Given the description of an element on the screen output the (x, y) to click on. 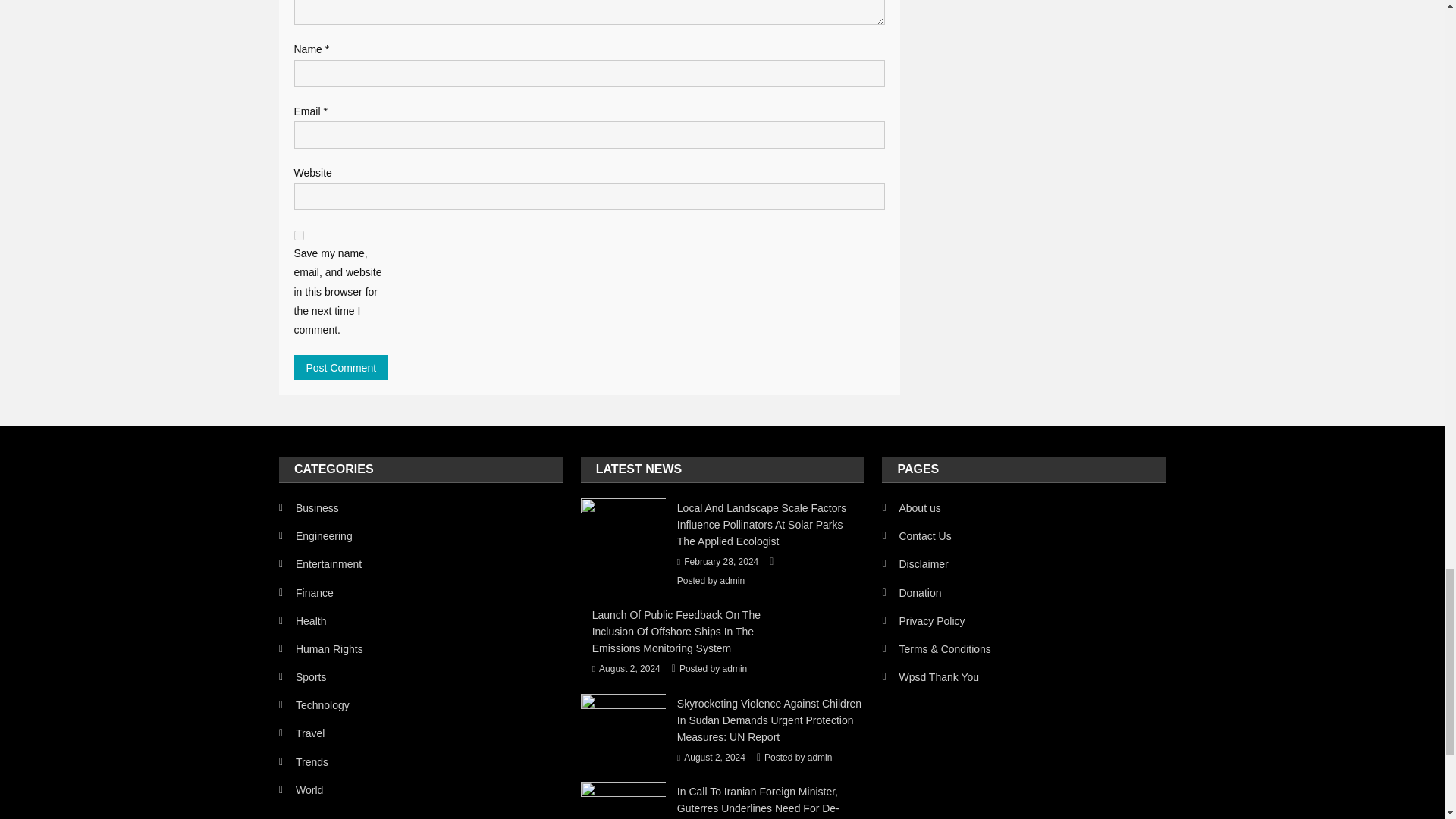
yes (299, 235)
Post Comment (341, 367)
